Given the description of an element on the screen output the (x, y) to click on. 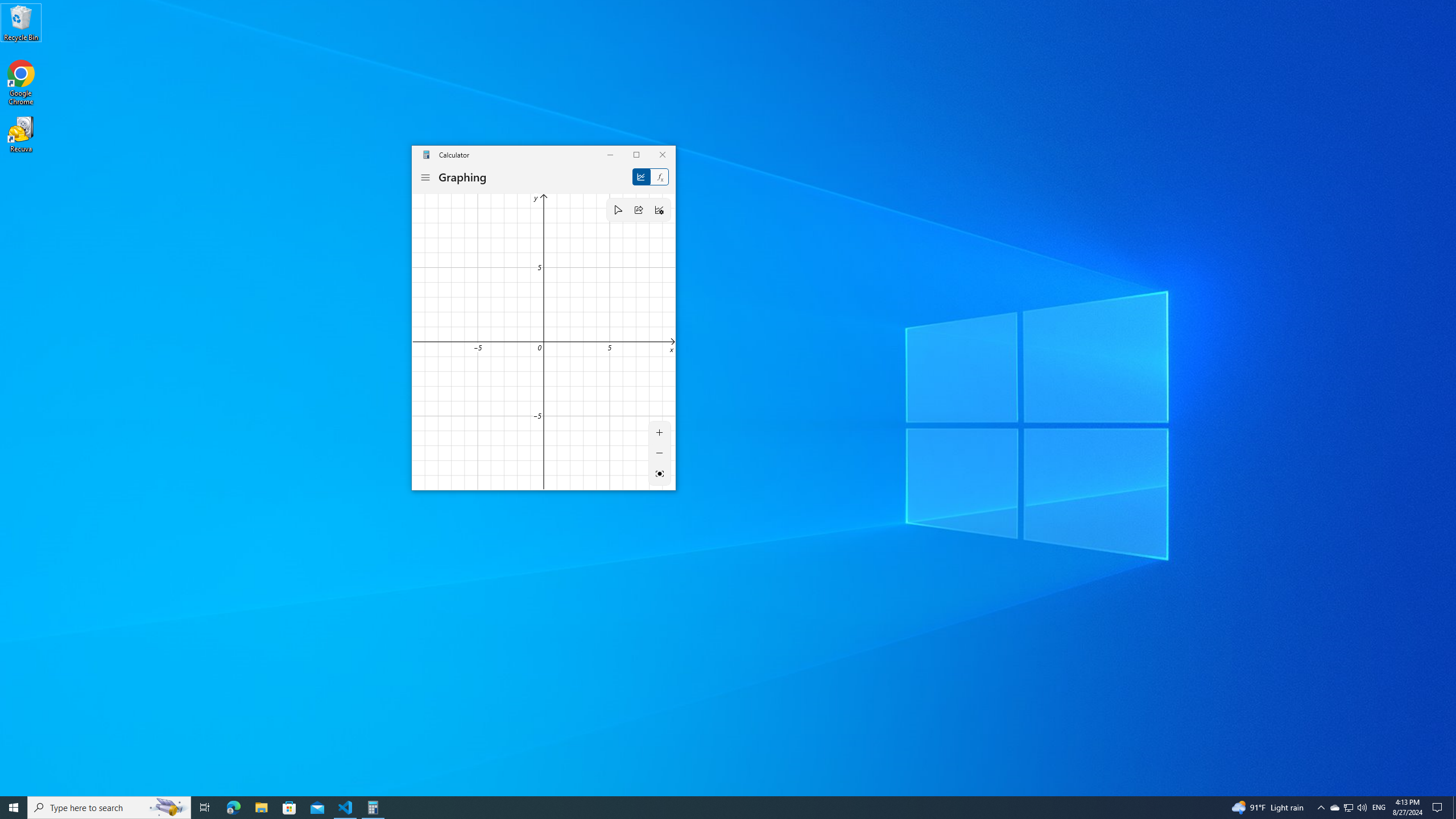
Recycle Bin (21, 22)
Recuva (21, 133)
Calculator - 1 running window (373, 807)
